Given the description of an element on the screen output the (x, y) to click on. 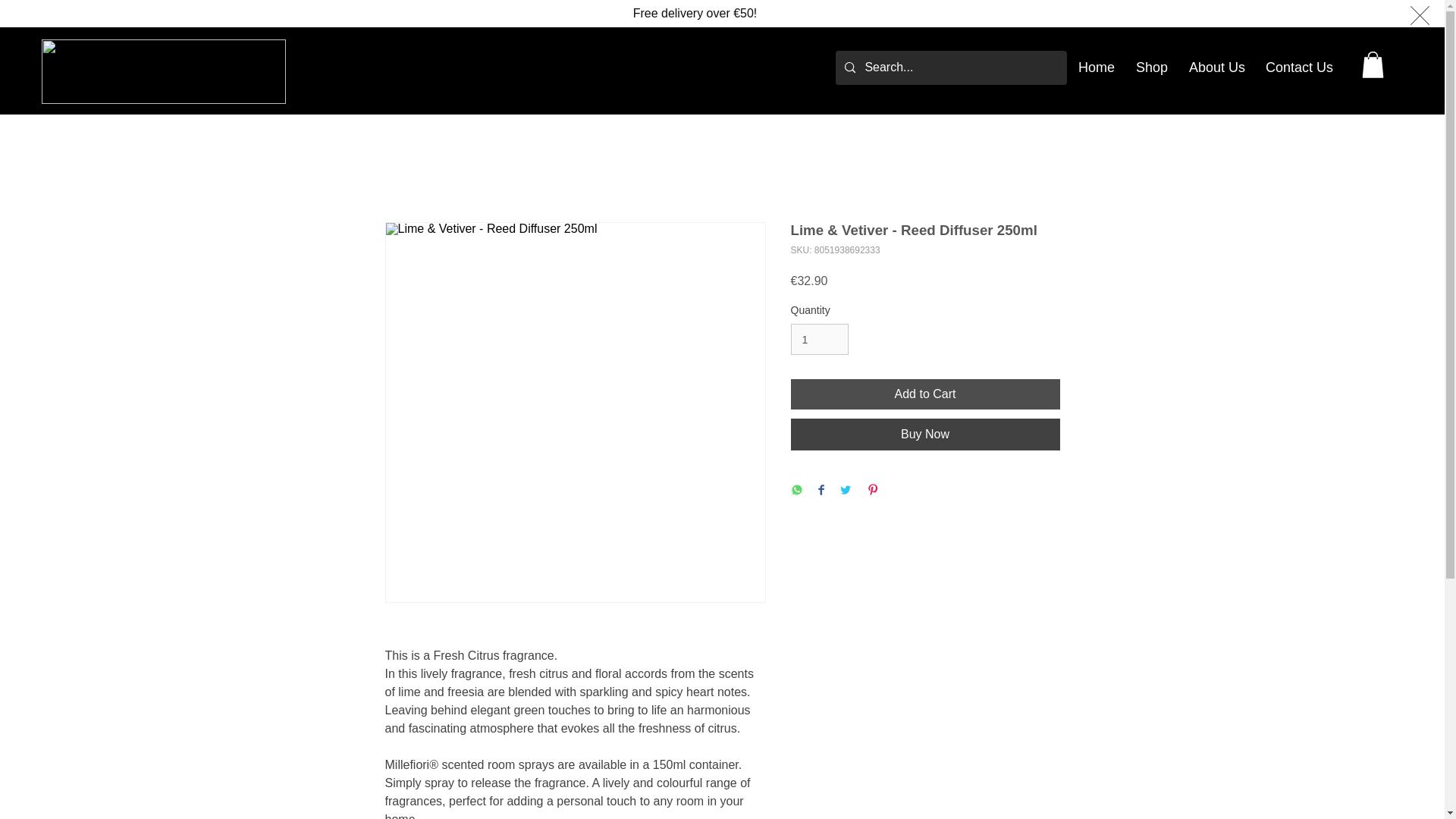
Shop (1150, 67)
Add to Cart (924, 394)
Buy Now (924, 434)
1 (818, 338)
Contact Us (1296, 67)
Home (1095, 67)
About Us (1215, 67)
